Given the description of an element on the screen output the (x, y) to click on. 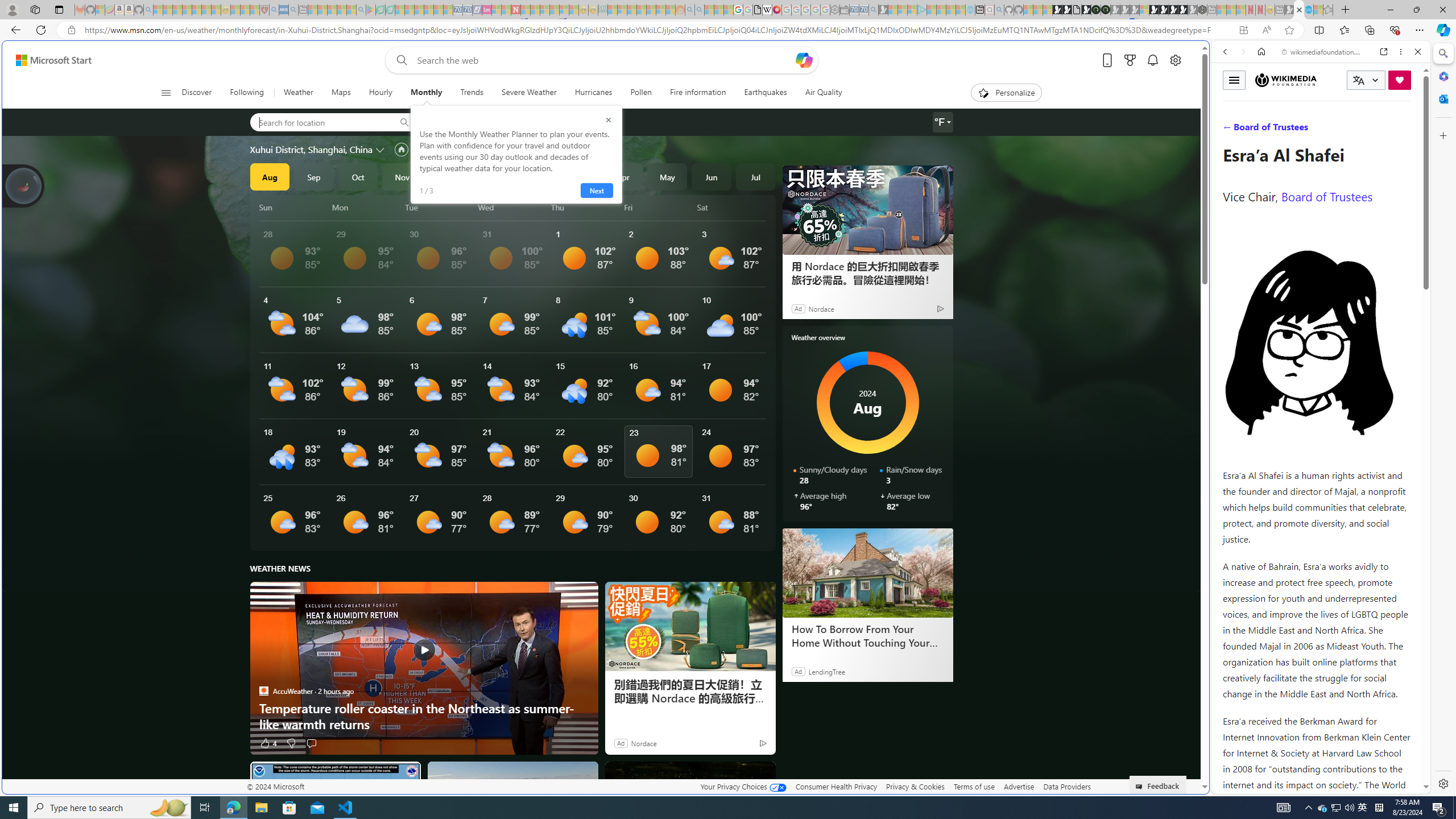
Mar (578, 176)
Play Zoo Boom in your browser | Games from Microsoft Start (1066, 9)
Favorites - Sleeping (1327, 9)
Skip to content (49, 59)
Search the web (1326, 78)
Jul (755, 176)
Join us in planting real trees to help our planet! (23, 185)
